Given the description of an element on the screen output the (x, y) to click on. 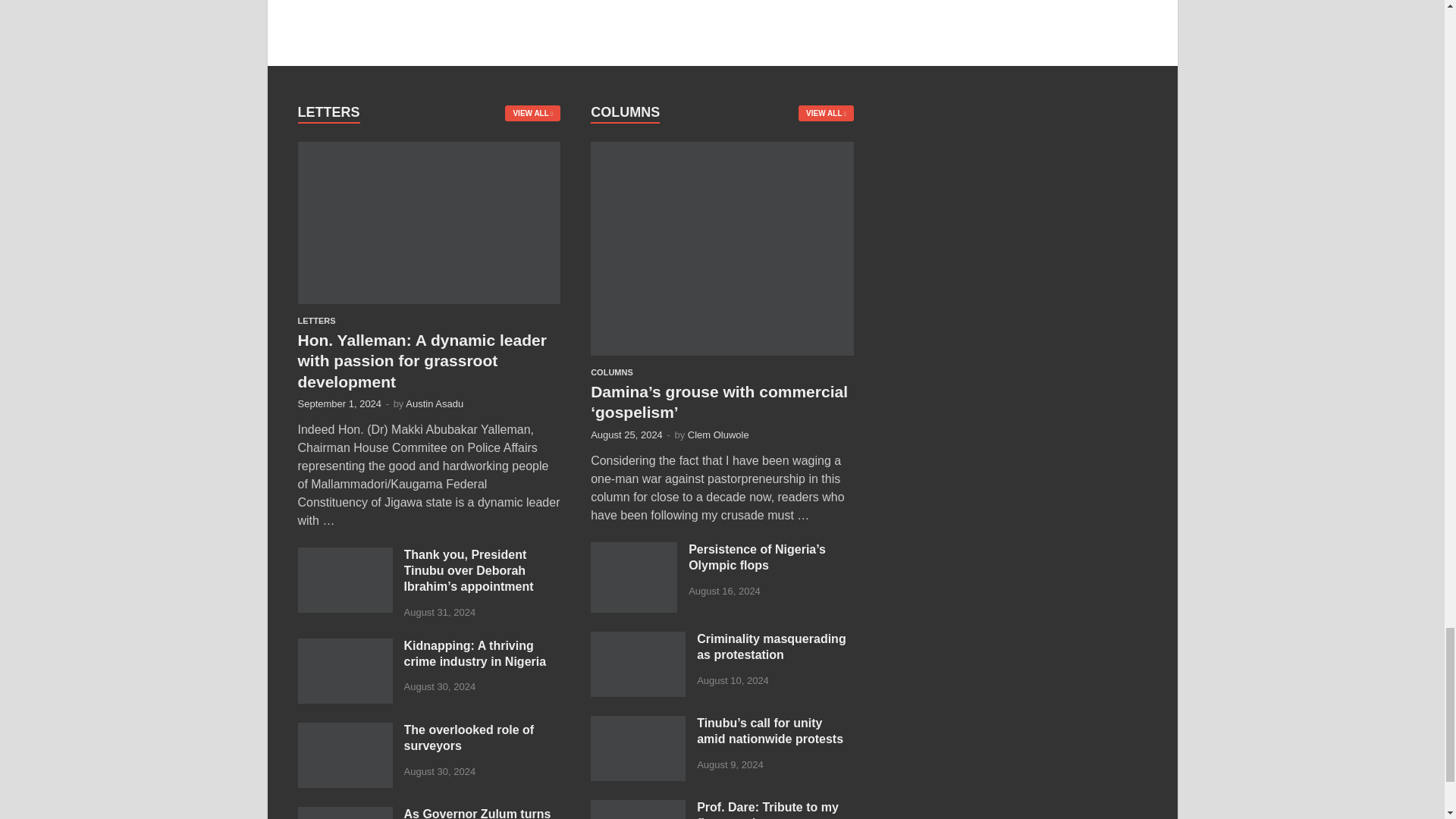
The overlooked role of surveyors (344, 730)
Kidnapping: A thriving crime industry in Nigeria (344, 646)
